Given the description of an element on the screen output the (x, y) to click on. 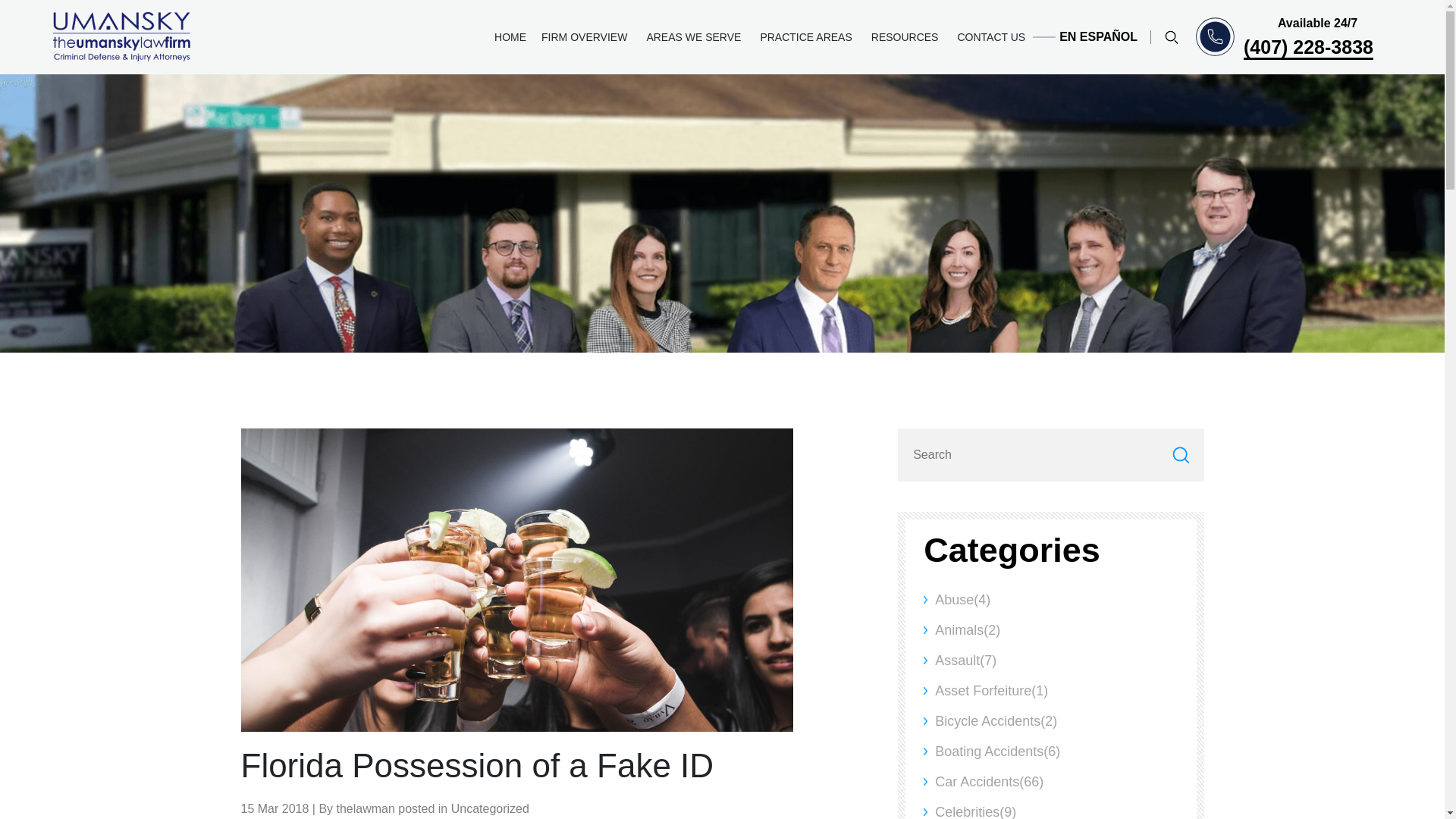
HOME (510, 37)
AREAS WE SERVE (695, 37)
FIRM OVERVIEW (586, 37)
